Given the description of an element on the screen output the (x, y) to click on. 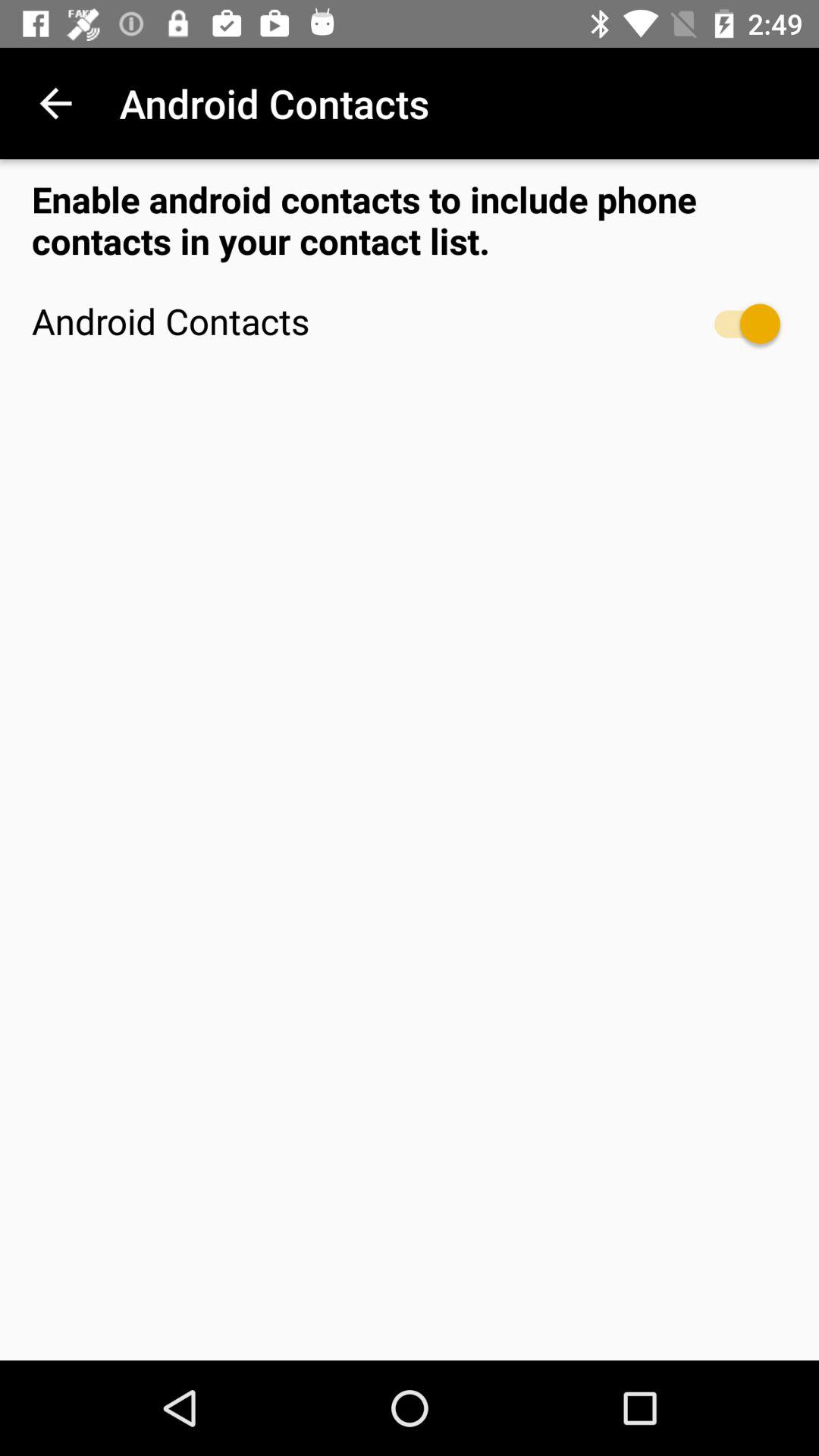
open the icon next to the android contacts item (739, 323)
